Given the description of an element on the screen output the (x, y) to click on. 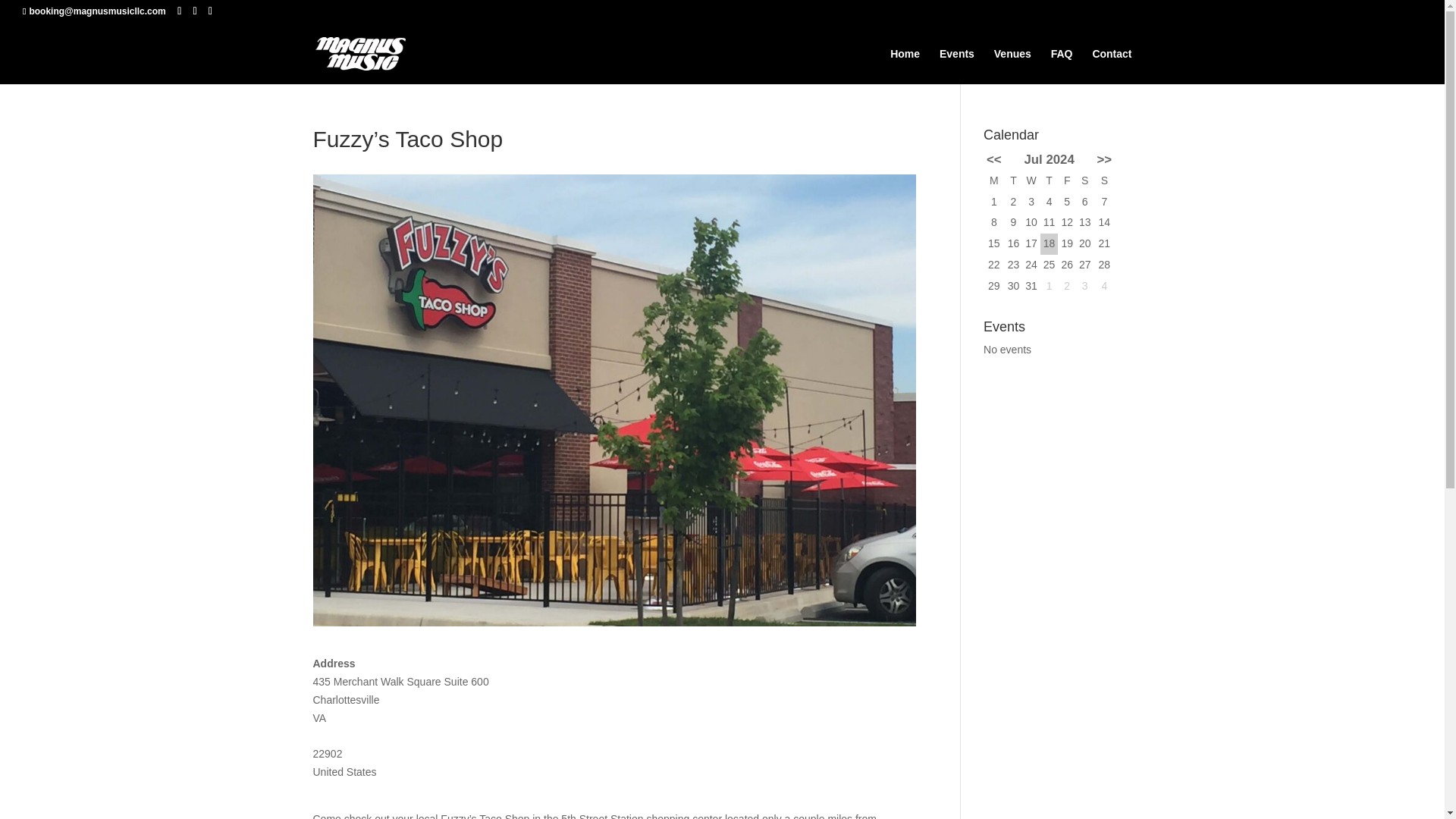
Events (956, 66)
Venues (1012, 66)
Contact (1111, 66)
